Given the description of an element on the screen output the (x, y) to click on. 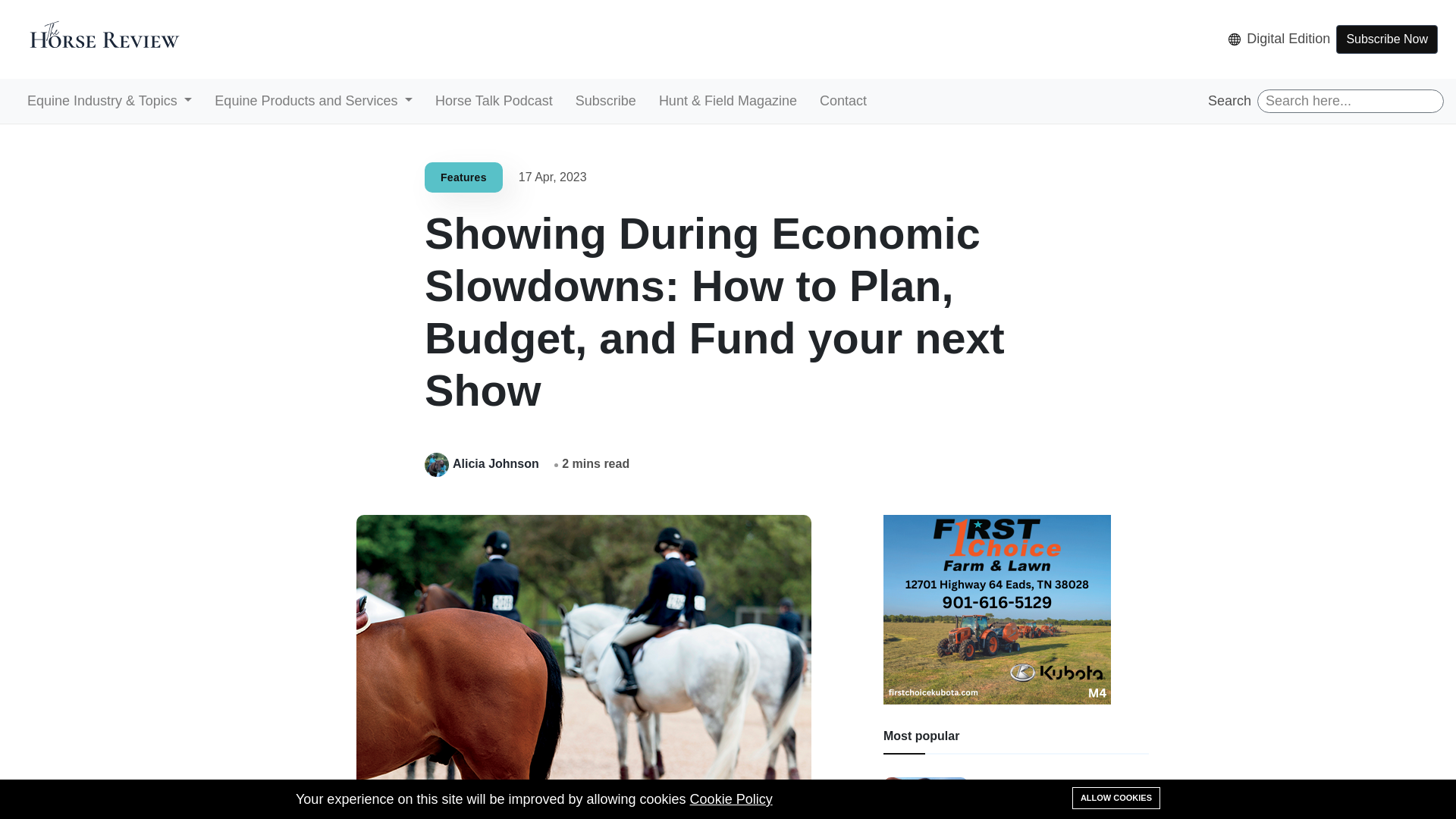
Digital Edition (1279, 38)
Contact (840, 101)
Competition Zone (787, 131)
Horse Talk Podcast (490, 101)
Alicia Johnson (496, 463)
Equestrian Impact Awards (929, 131)
Subscribe Now (1387, 39)
Equine Products and Services (309, 101)
Latest News (685, 131)
Features (470, 176)
Subscribe (601, 101)
Horse Health (485, 131)
